Given the description of an element on the screen output the (x, y) to click on. 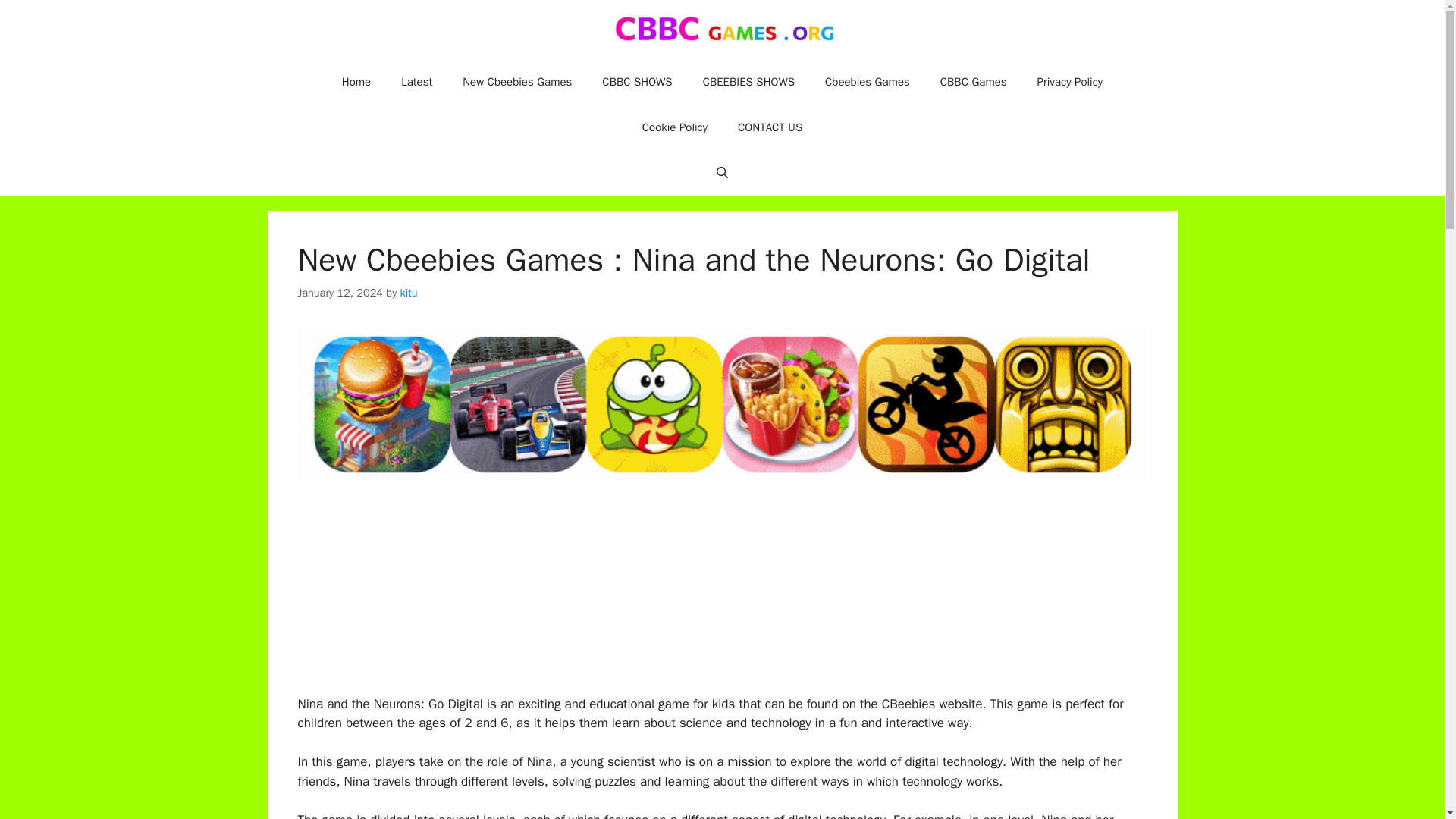
Cbeebies Games (866, 81)
CONTACT US (769, 126)
CBEEBIES SHOWS (748, 81)
CBBC Games (973, 81)
Latest (415, 81)
Privacy Policy (1070, 81)
View all posts by kitu (408, 292)
Cookie Policy (674, 126)
kitu (408, 292)
